Given the description of an element on the screen output the (x, y) to click on. 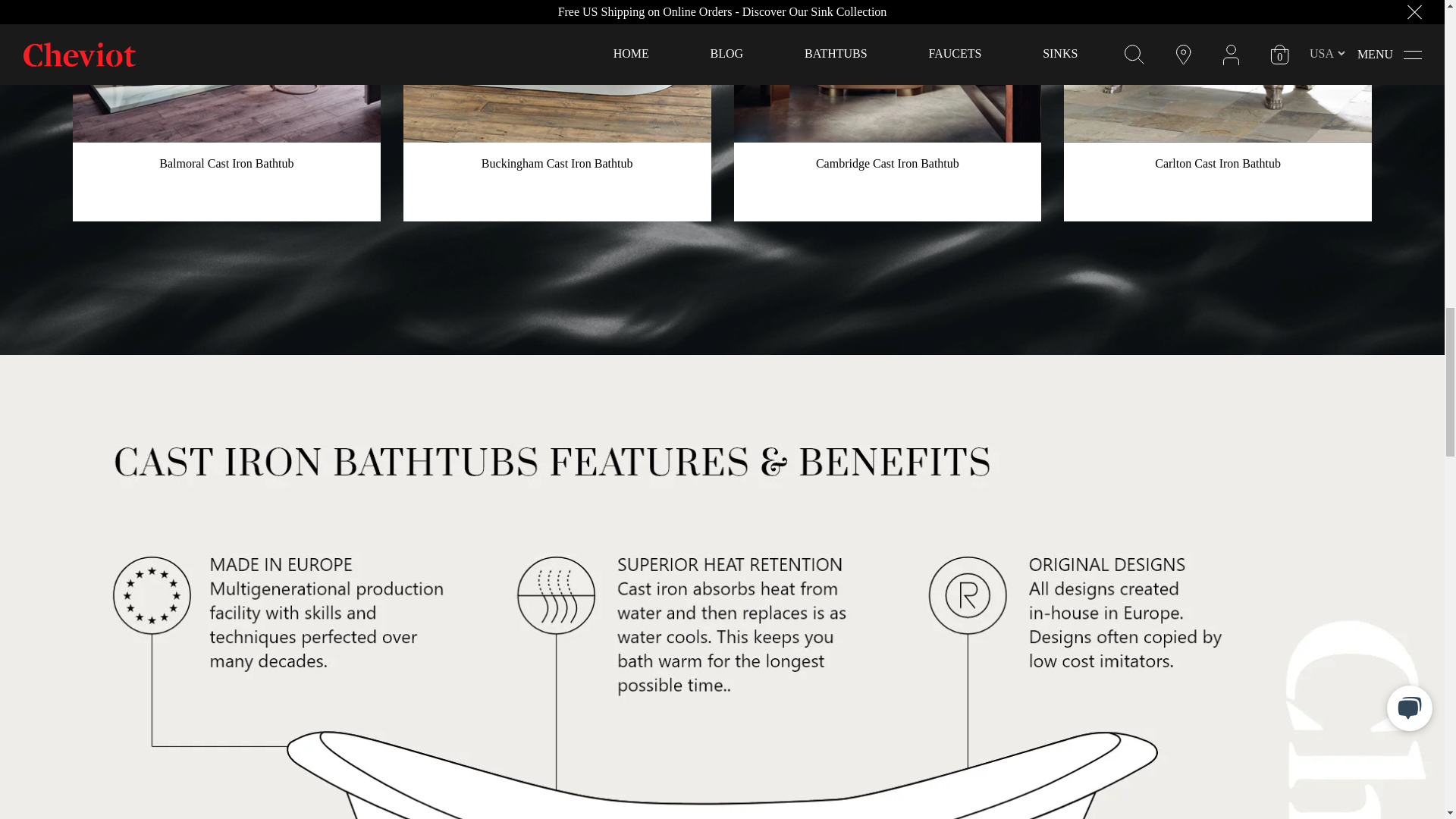
Carlton Cast Iron Bathtub (1217, 71)
Balmoral Cast Iron Bathtub (226, 71)
Cambridge Cast Iron Bathtub (887, 71)
Buckingham Cast Iron Bathtub (557, 71)
